Given the description of an element on the screen output the (x, y) to click on. 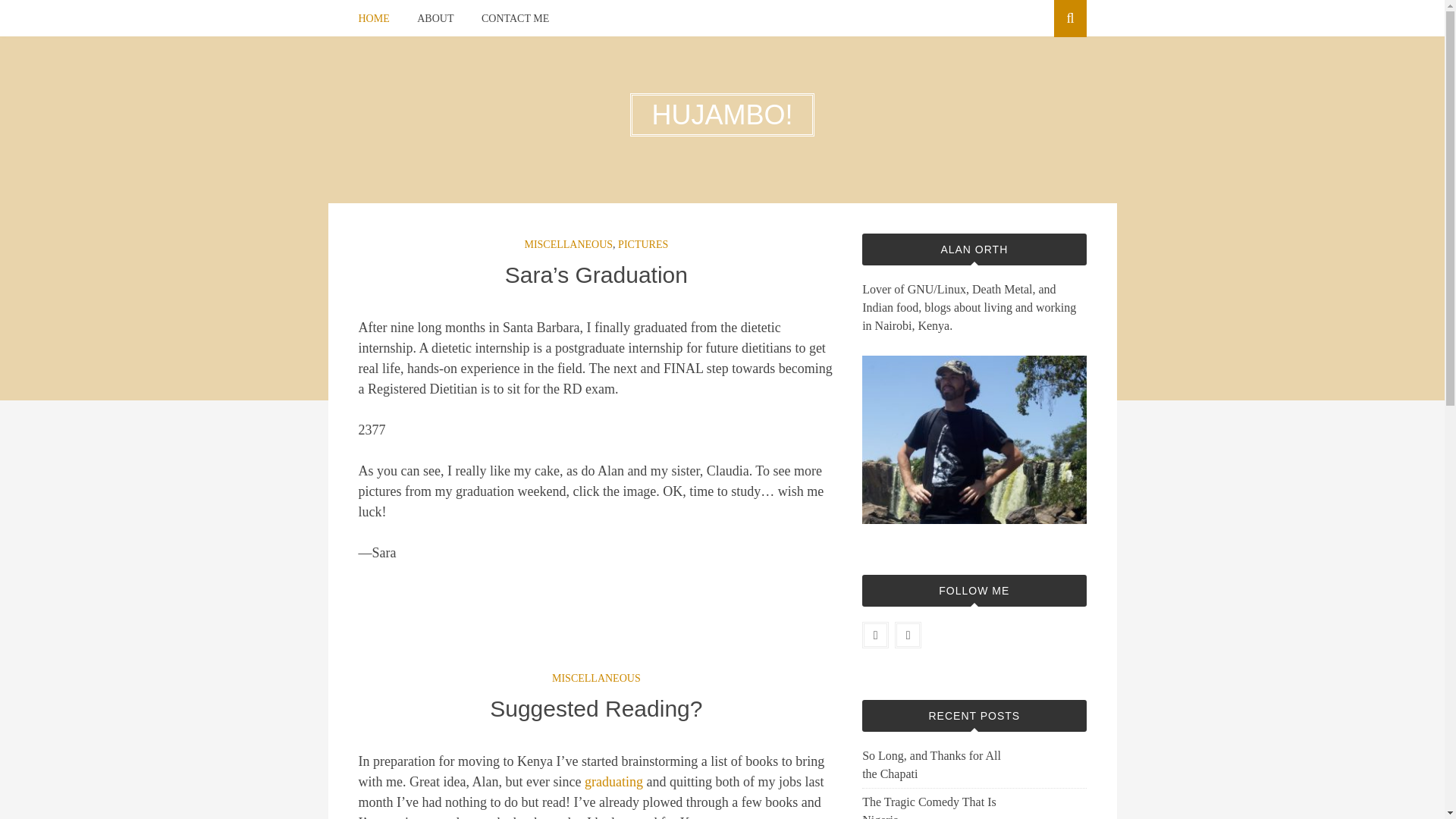
CONTACT ME (514, 18)
The Tragic Comedy That Is Nigeria (934, 806)
HOME (373, 18)
PICTURES (642, 244)
HUJAMBO! (721, 113)
ABOUT (434, 18)
MISCELLANEOUS (568, 244)
Suggested Reading? (595, 708)
So Long, and Thanks for All the Chapati (934, 764)
Alan Graduated! (614, 781)
MISCELLANEOUS (595, 677)
graduating (614, 781)
